Given the description of an element on the screen output the (x, y) to click on. 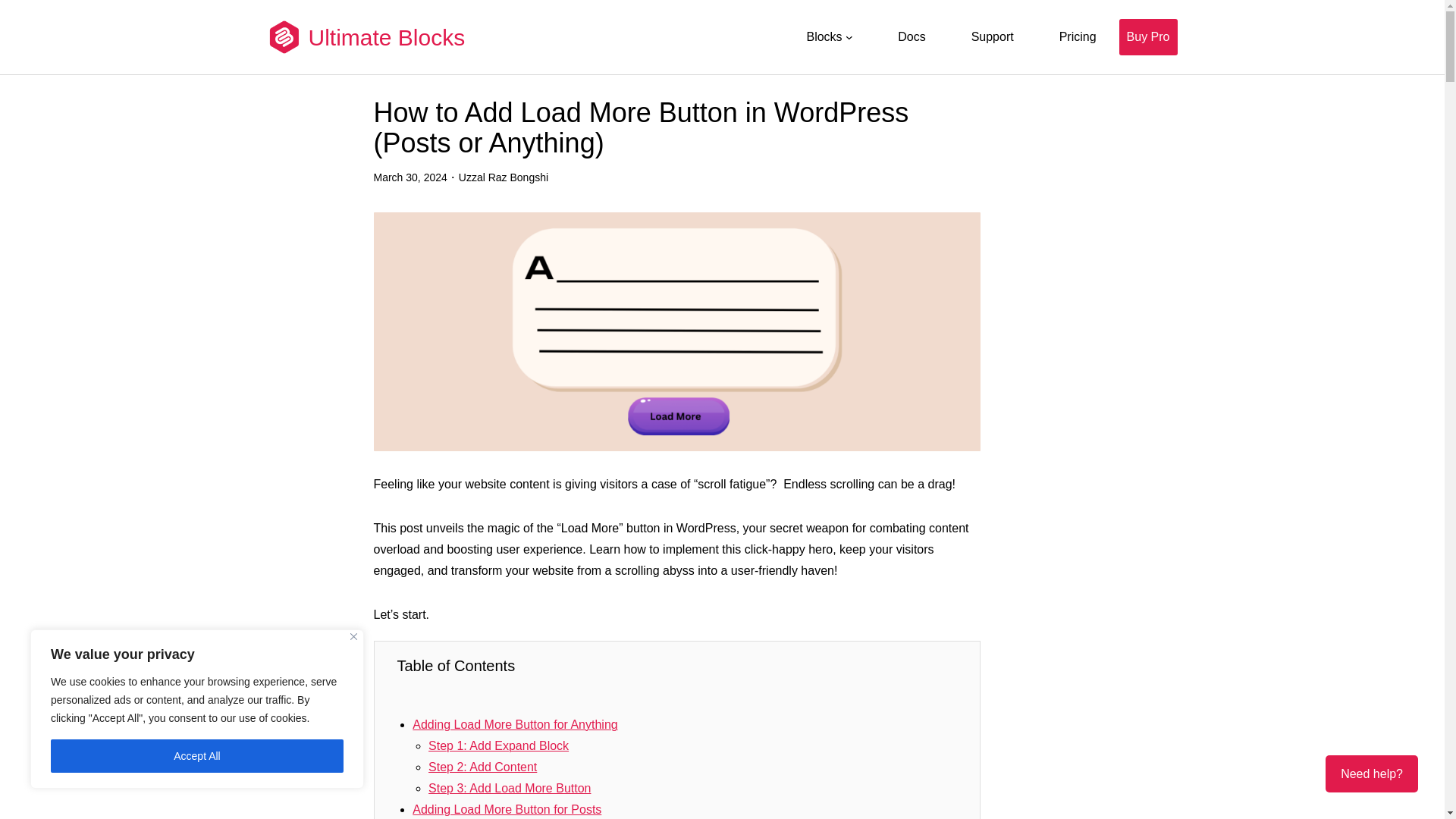
Docs (911, 36)
Ultimate Blocks (385, 36)
Buy Pro (1148, 36)
Accept All (196, 756)
Blocks (823, 36)
Support (992, 36)
Pricing (1077, 36)
